Given the description of an element on the screen output the (x, y) to click on. 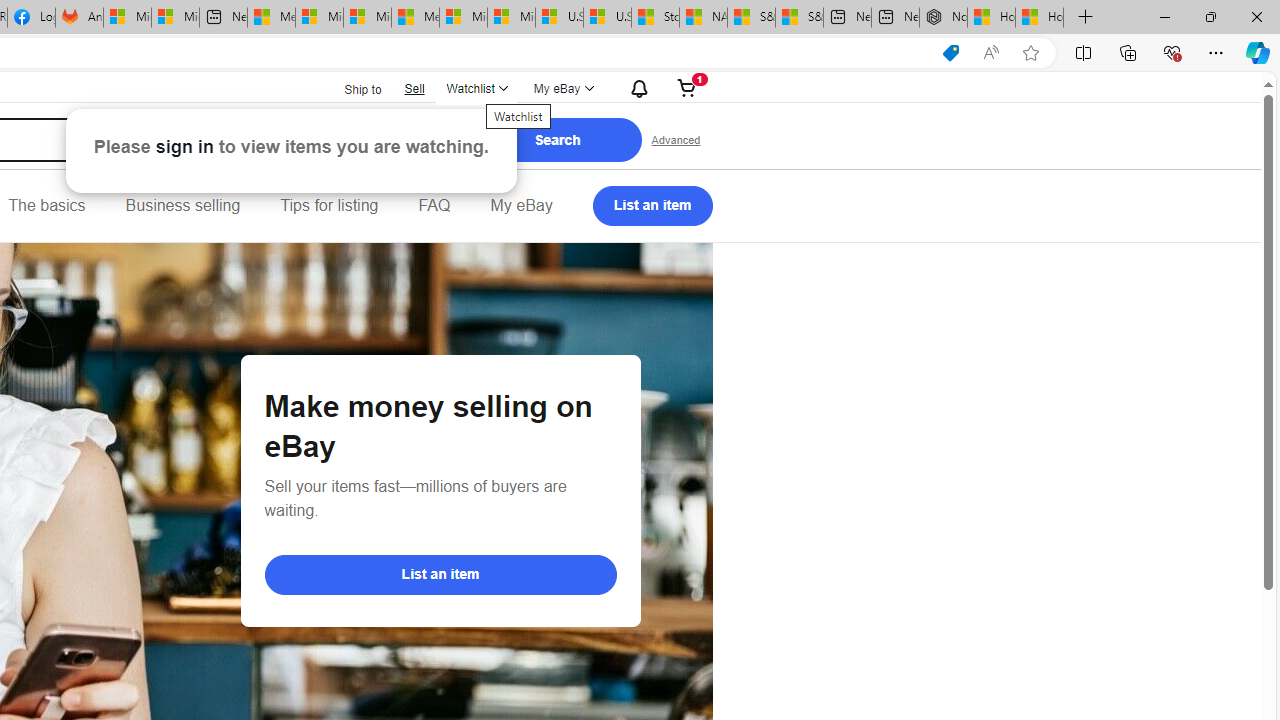
Watchlist (476, 88)
Sell (414, 87)
